Given the description of an element on the screen output the (x, y) to click on. 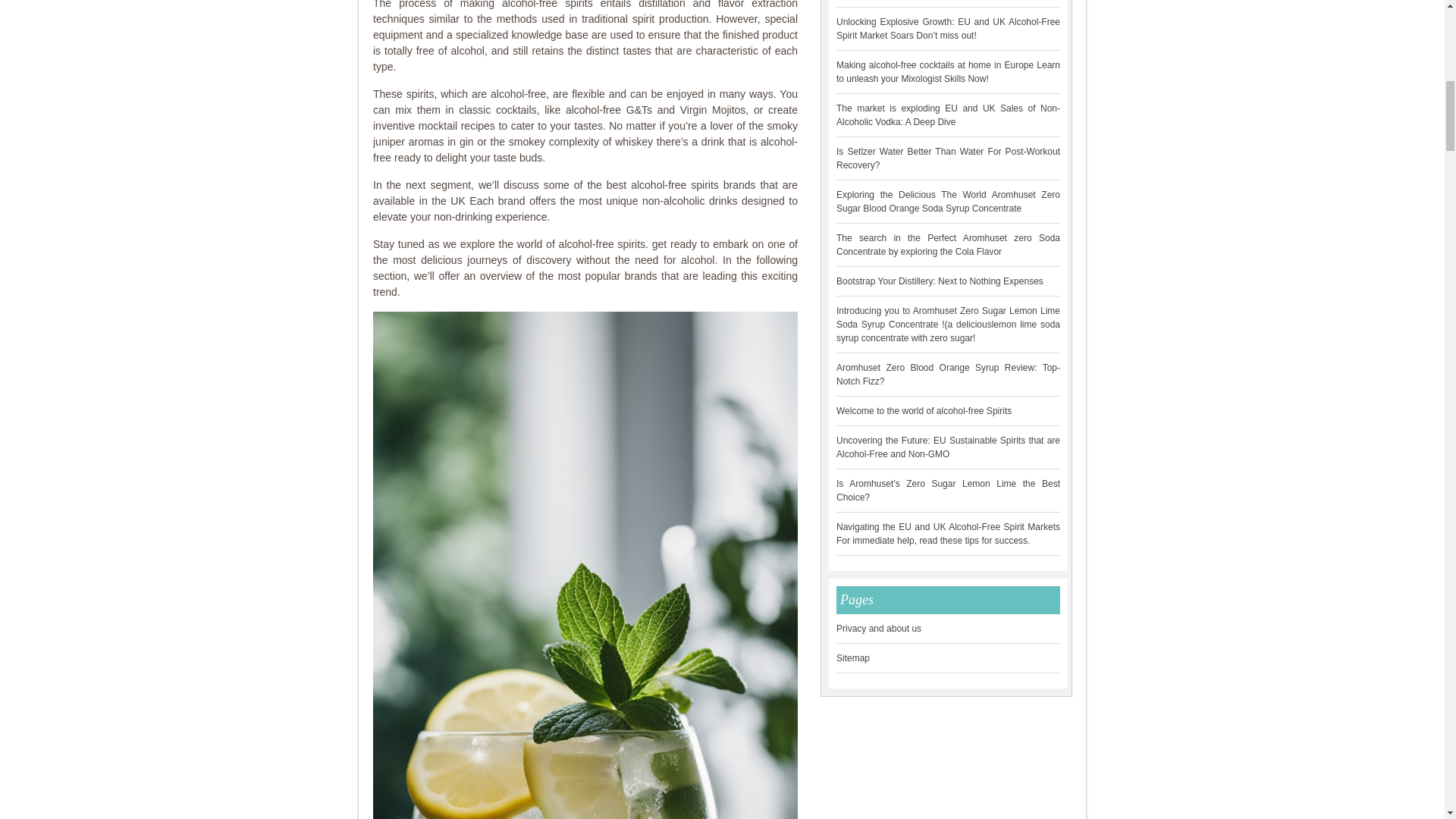
Aromhuset Zero Blood Orange Syrup Review: Top-Notch Fizz? (947, 374)
Bootstrap Your Distillery: Next to Nothing Expenses (939, 281)
